Given the description of an element on the screen output the (x, y) to click on. 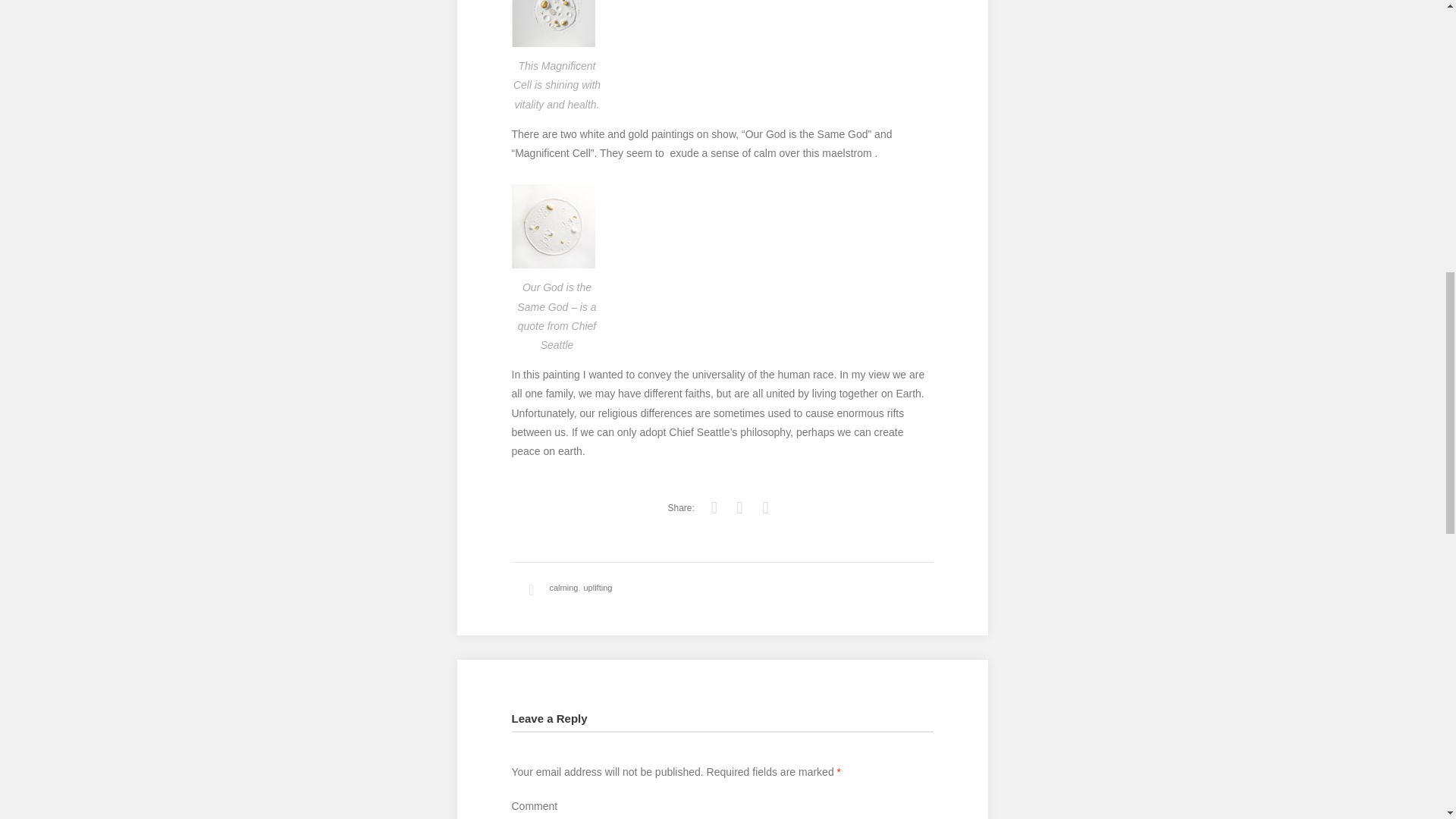
Facebook (740, 507)
calming (563, 587)
uplifting (597, 587)
Twitter (714, 507)
